Given the description of an element on the screen output the (x, y) to click on. 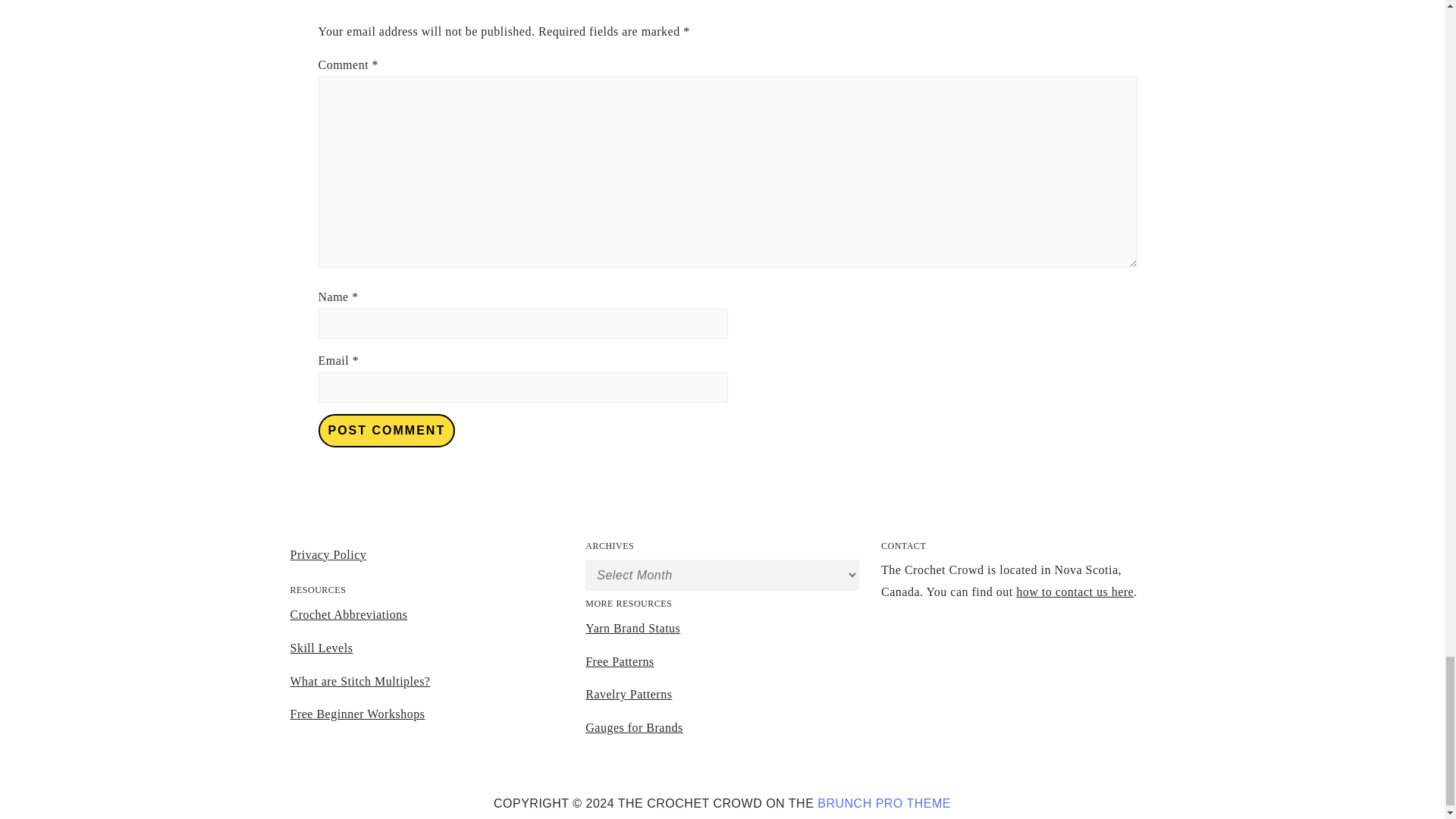
Post Comment (386, 430)
